Given the description of an element on the screen output the (x, y) to click on. 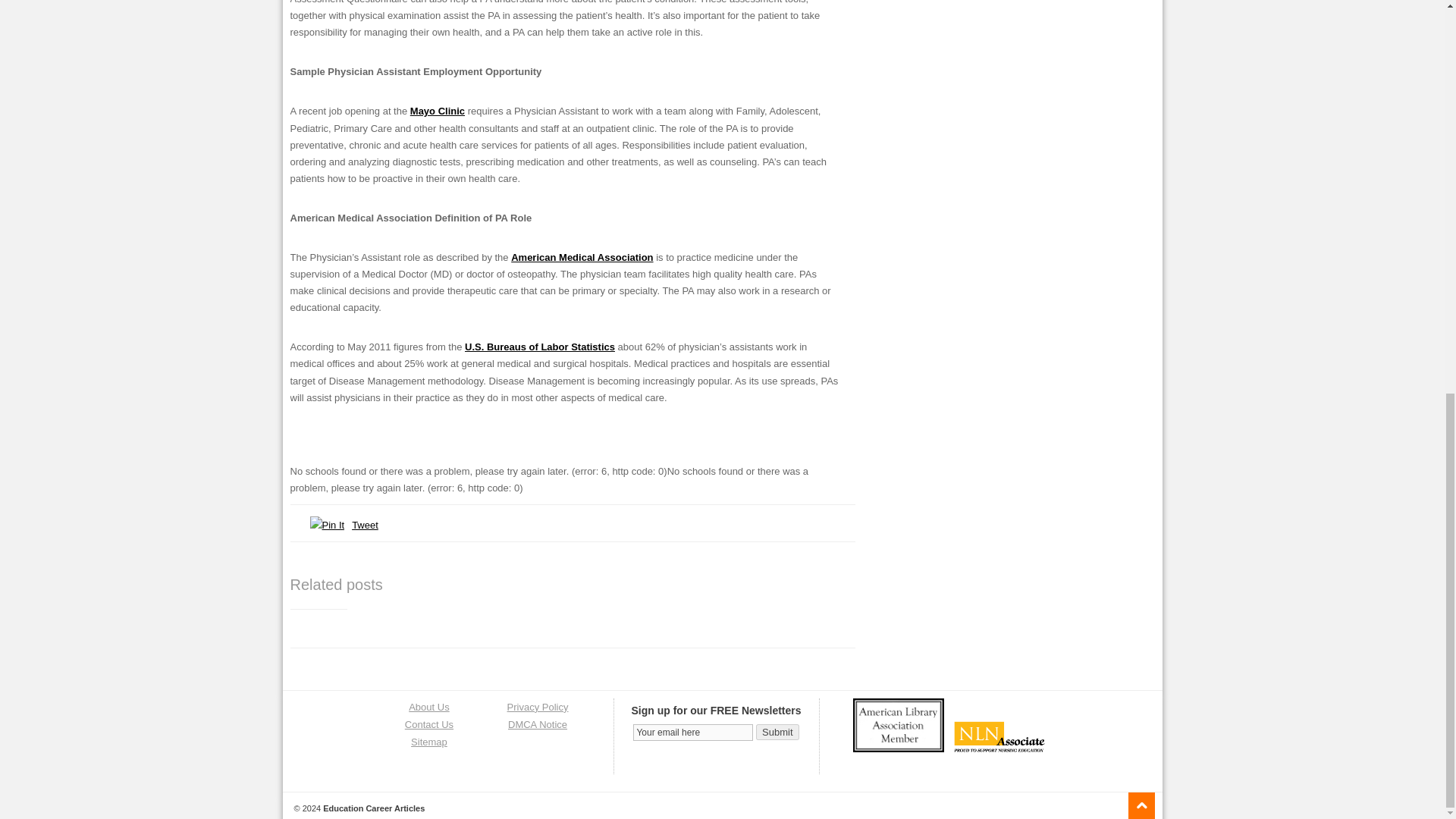
Mayo Clinic (437, 111)
U.S. Bureaus of Labor Statistics (539, 346)
Pin It (325, 524)
American Medical Association (581, 256)
Your email here (692, 732)
Tweet (365, 524)
Submit (776, 731)
About Us (428, 706)
